Given the description of an element on the screen output the (x, y) to click on. 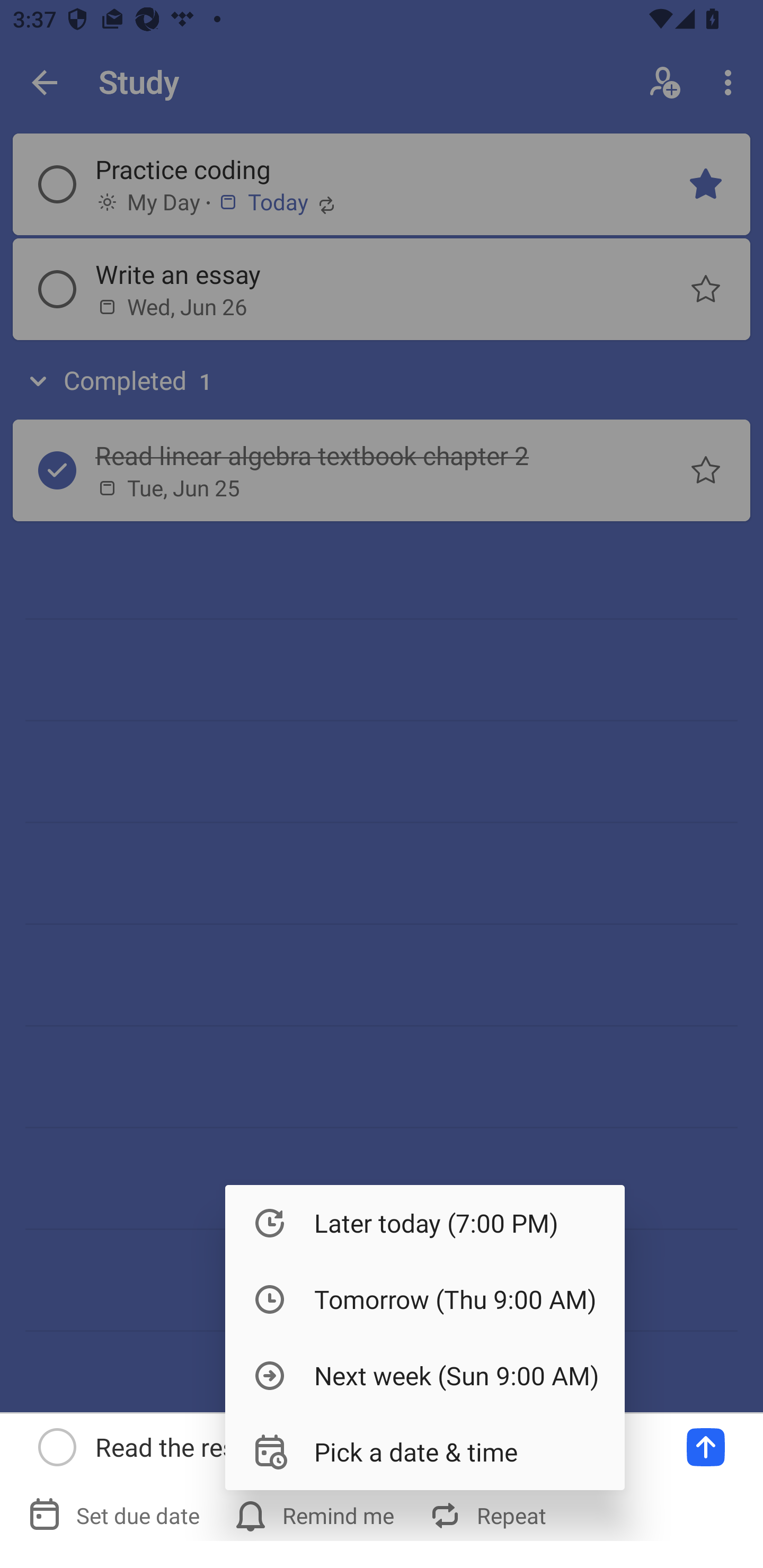
Pick a date & time4 in 4 Pick a date & time (424, 1451)
